Given the description of an element on the screen output the (x, y) to click on. 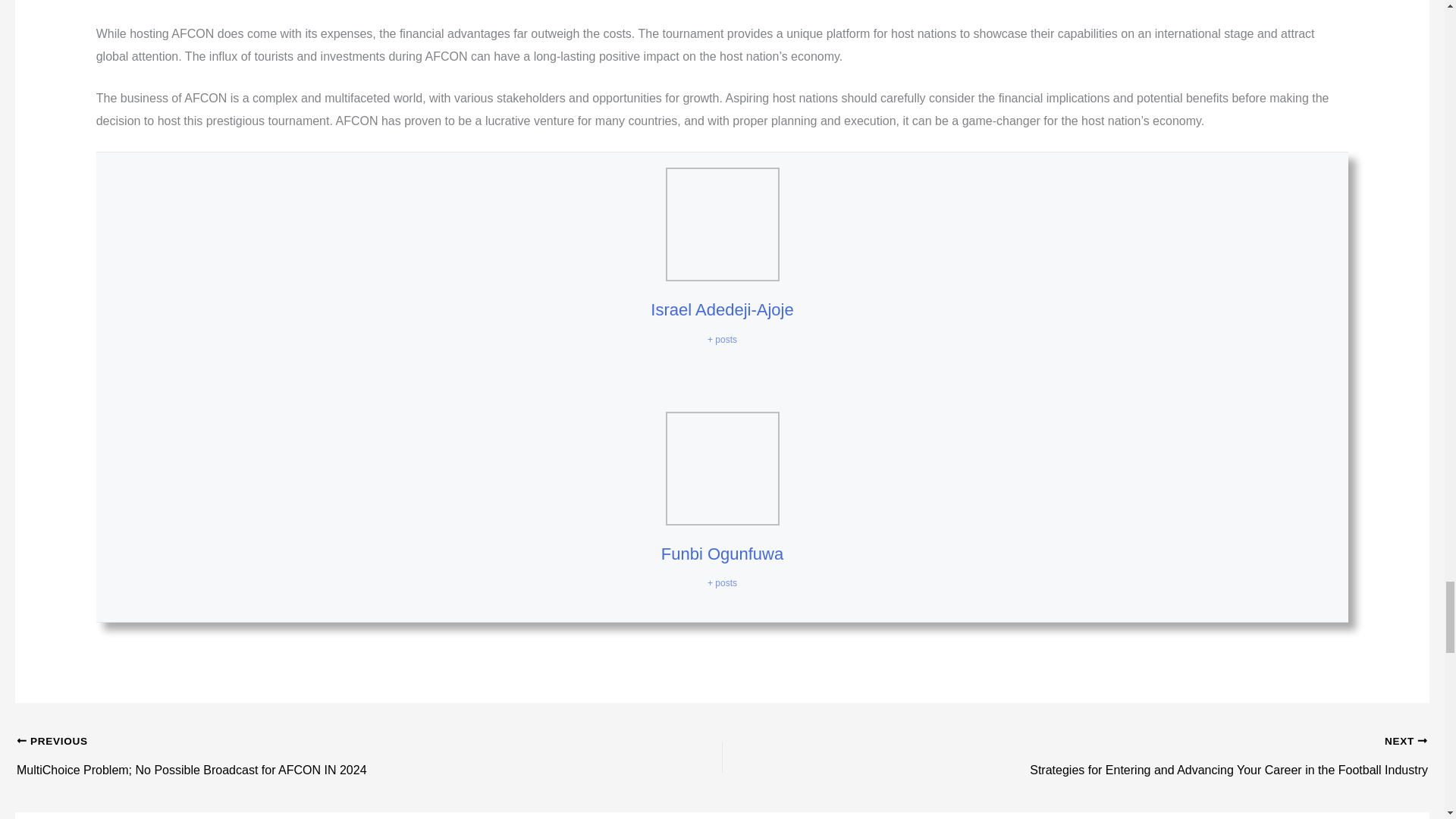
Funbi Ogunfuwa (722, 553)
Israel Adedeji-Ajoje (721, 309)
MultiChoice Problem; No Possible Broadcast for AFCON IN 2024 (299, 742)
